Given the description of an element on the screen output the (x, y) to click on. 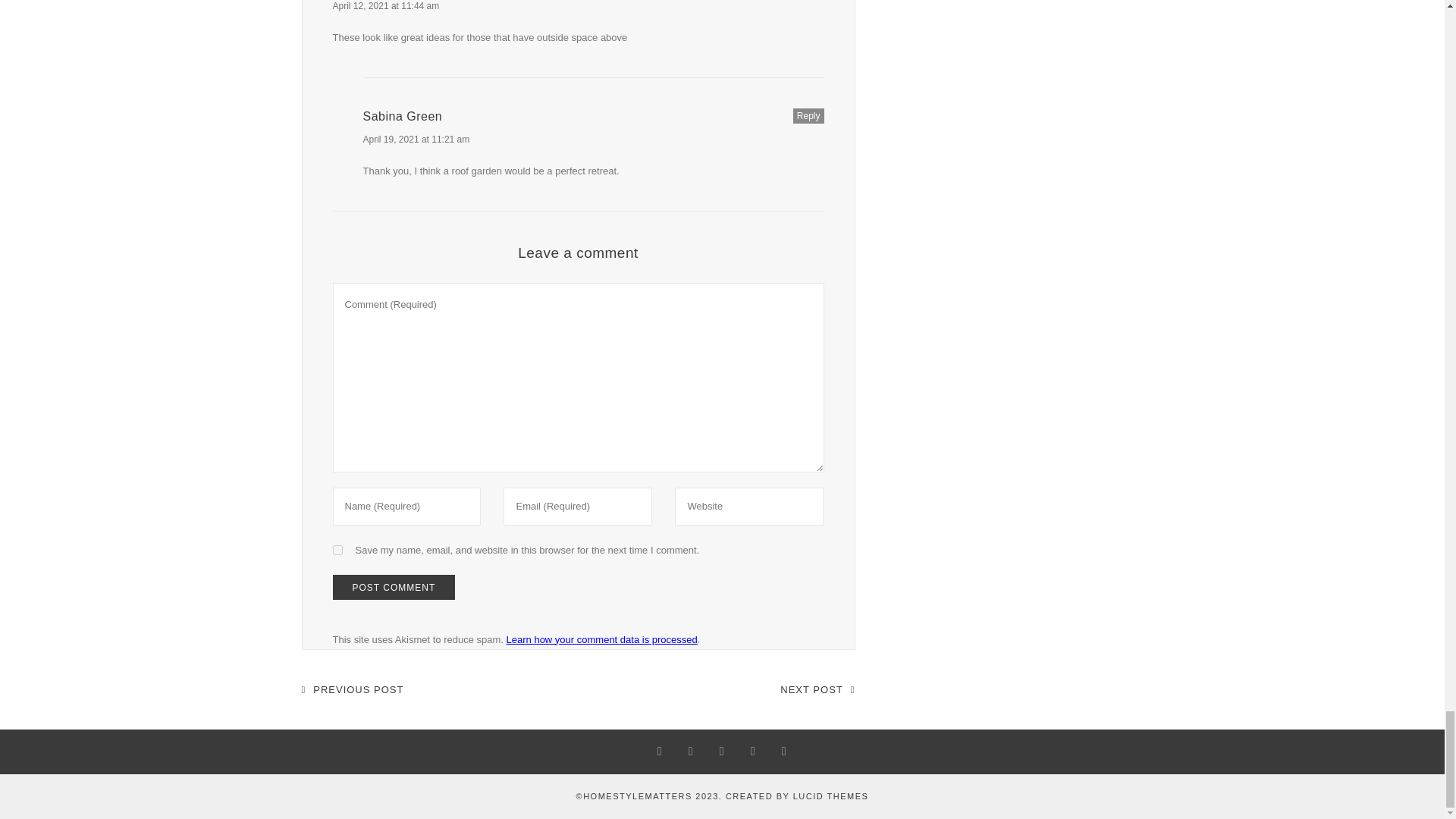
Post Comment (392, 586)
yes (336, 549)
